Given the description of an element on the screen output the (x, y) to click on. 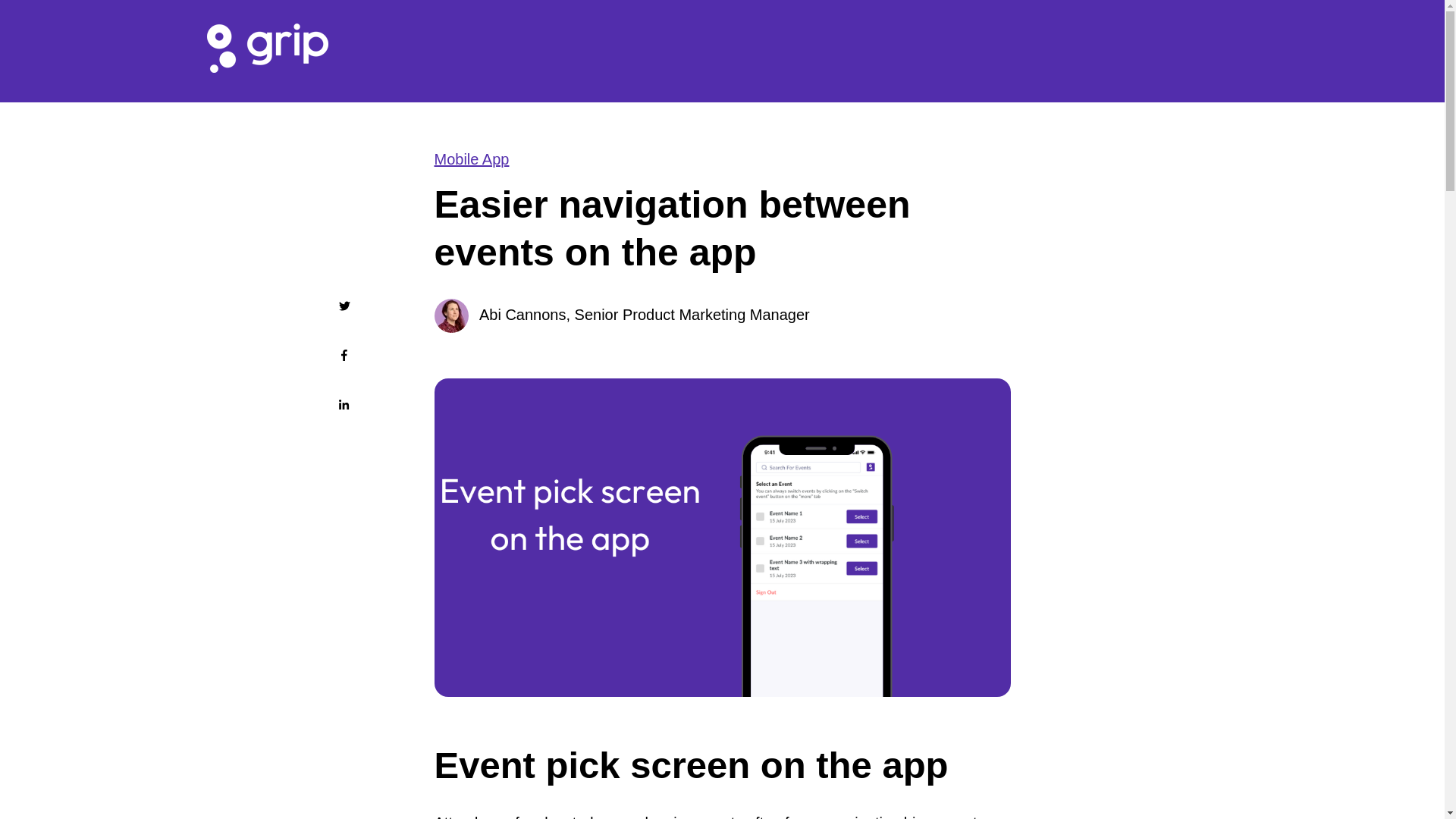
Grip-horizontal-logo-white (266, 47)
Share this blog post on Twitter (343, 306)
Mobile App (470, 159)
Abi Cannons, Senior Product Marketing Manager (644, 314)
